Given the description of an element on the screen output the (x, y) to click on. 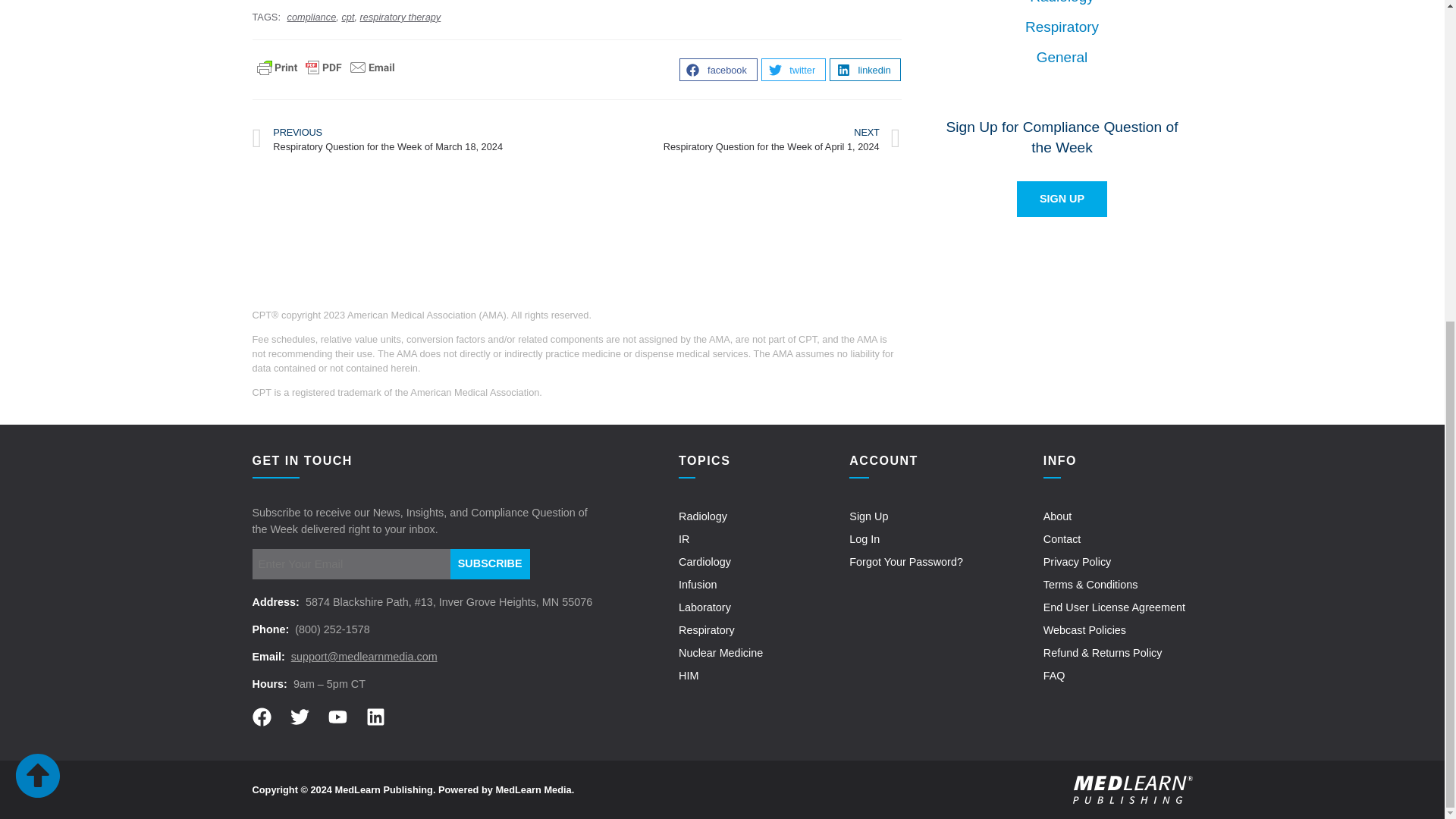
3rd party ad content (575, 228)
Subscribe (489, 563)
